Given the description of an element on the screen output the (x, y) to click on. 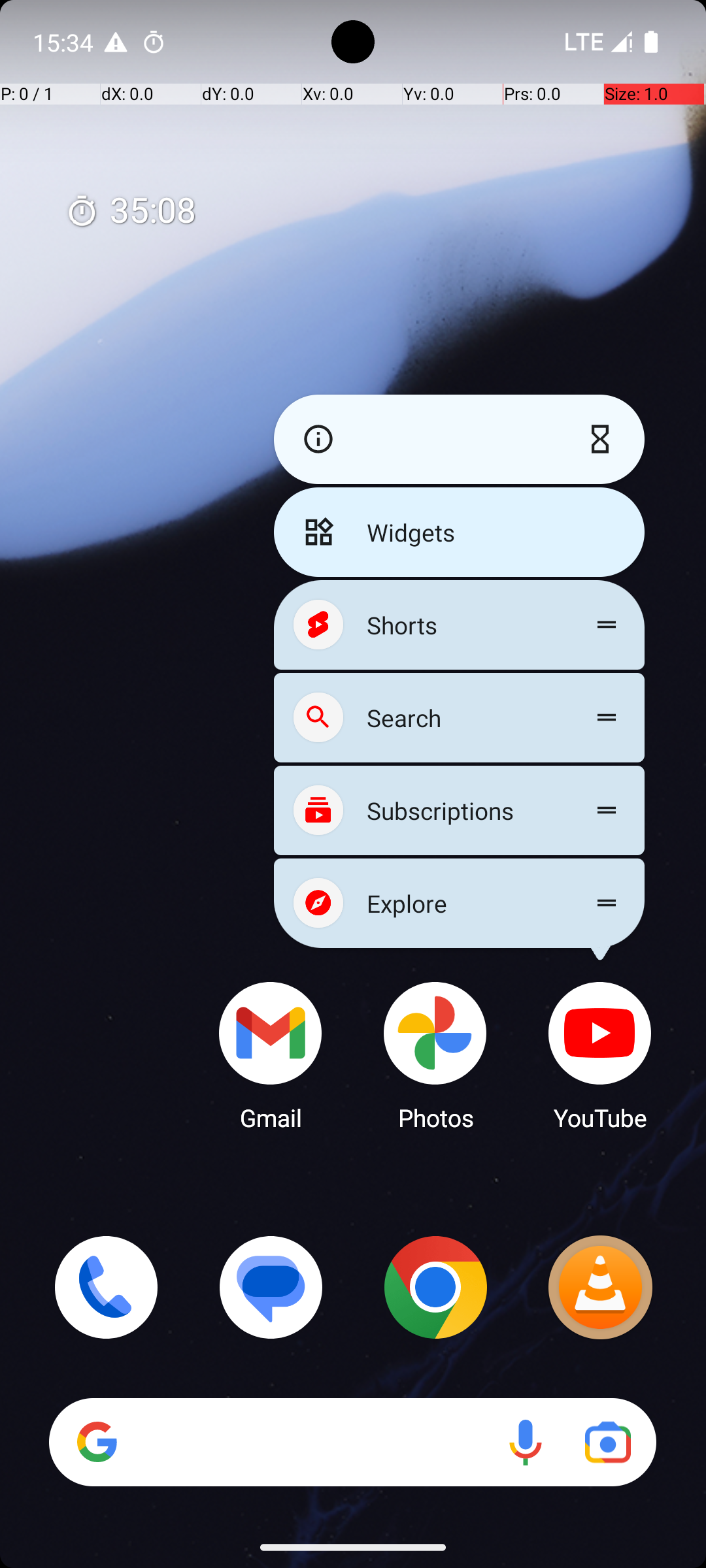
App info Element type: android.widget.ImageView (314, 438)
Pause app Element type: android.widget.ImageView (603, 438)
Shorts Element type: android.widget.TextView (458, 624)
Subscriptions Element type: android.widget.TextView (458, 810)
Explore Element type: android.widget.TextView (458, 902)
Widgets Element type: android.widget.TextView (458, 531)
